Given the description of an element on the screen output the (x, y) to click on. 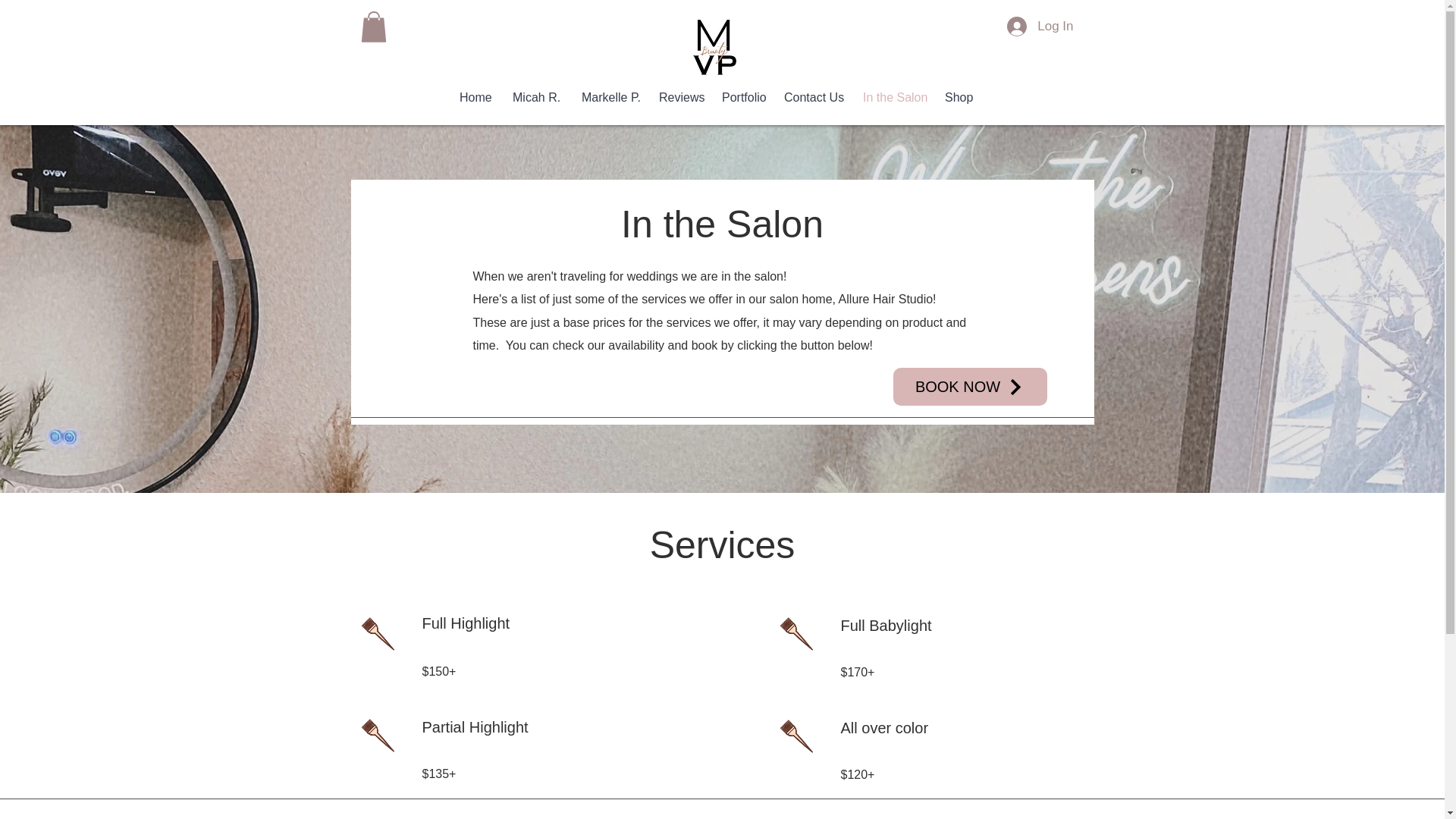
Markelle P. (608, 97)
BOOK NOW (969, 386)
Reviews (678, 97)
Micah R. (535, 97)
Log In (1039, 26)
Portfolio (741, 97)
In the Salon (892, 97)
Home (474, 97)
Contact Us (812, 97)
Shop (957, 97)
